Given the description of an element on the screen output the (x, y) to click on. 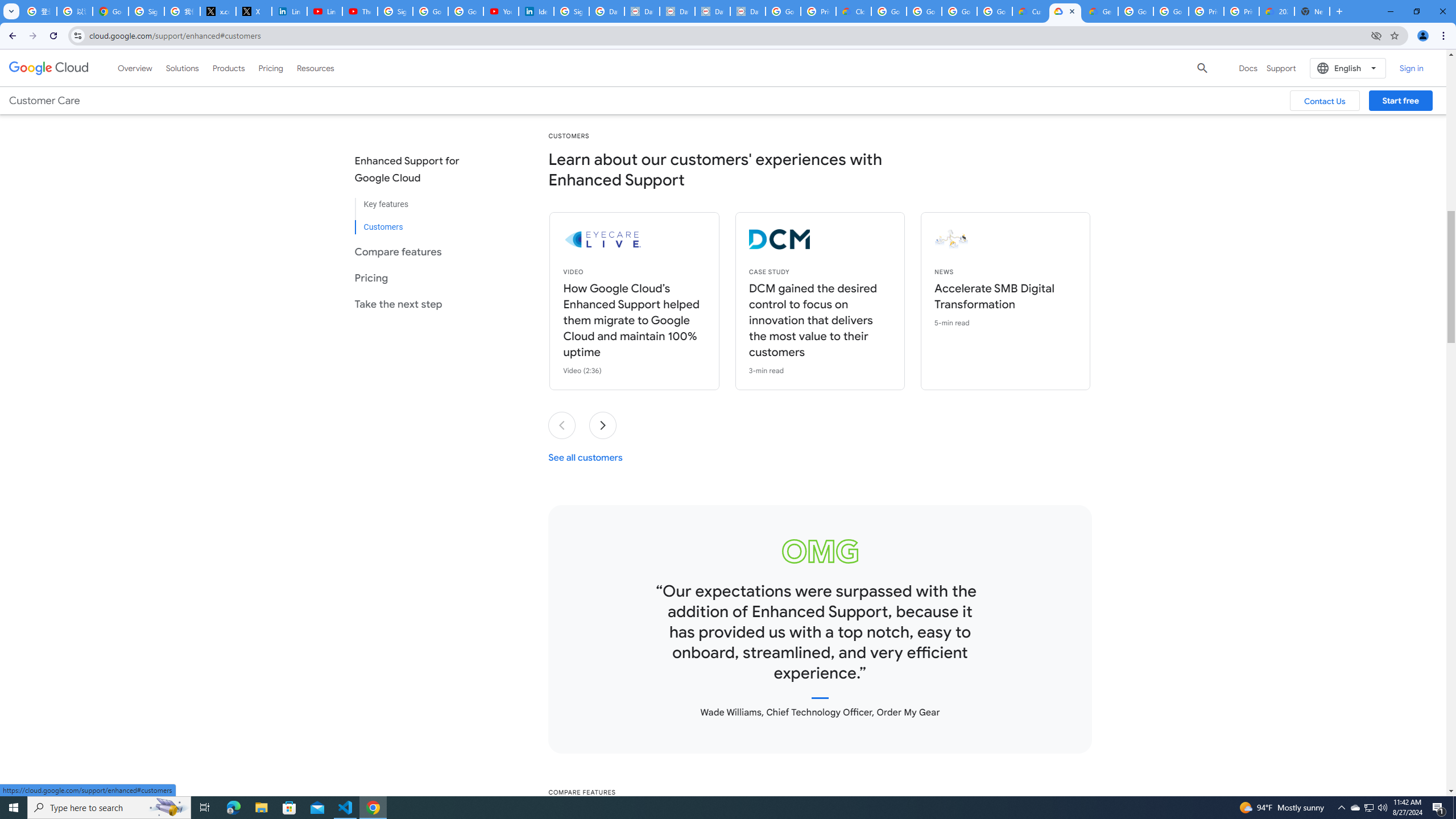
Docs (1248, 67)
Purchasing and Signing up for Enhanced Support (668, 56)
Google Cloud Platform (1170, 11)
Customer Care | Google Cloud (1029, 11)
Data Privacy Framework (677, 11)
Compare features (416, 251)
